Given the description of an element on the screen output the (x, y) to click on. 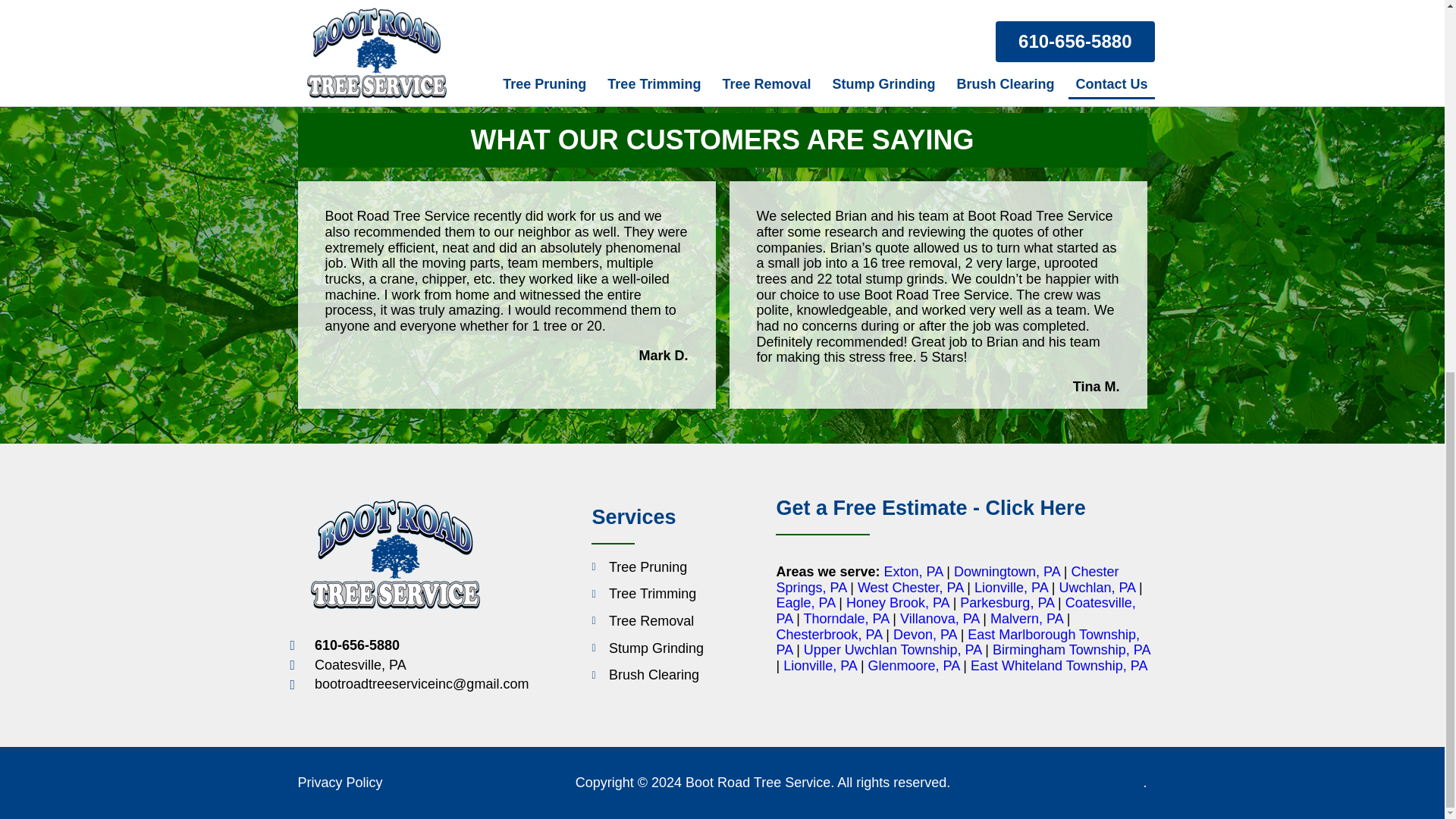
Tree Removal (647, 621)
Lionville, PA (1011, 586)
Tree Pruning (647, 567)
Get a Free Estimate - Click Here (930, 507)
Exton, PA (913, 571)
West Chester, PA (909, 586)
Downingtown, PA (1006, 571)
Chester Springs, PA (947, 579)
Brush Clearing (647, 675)
Stump Grinding (647, 648)
Tree Trimming (647, 593)
